Given the description of an element on the screen output the (x, y) to click on. 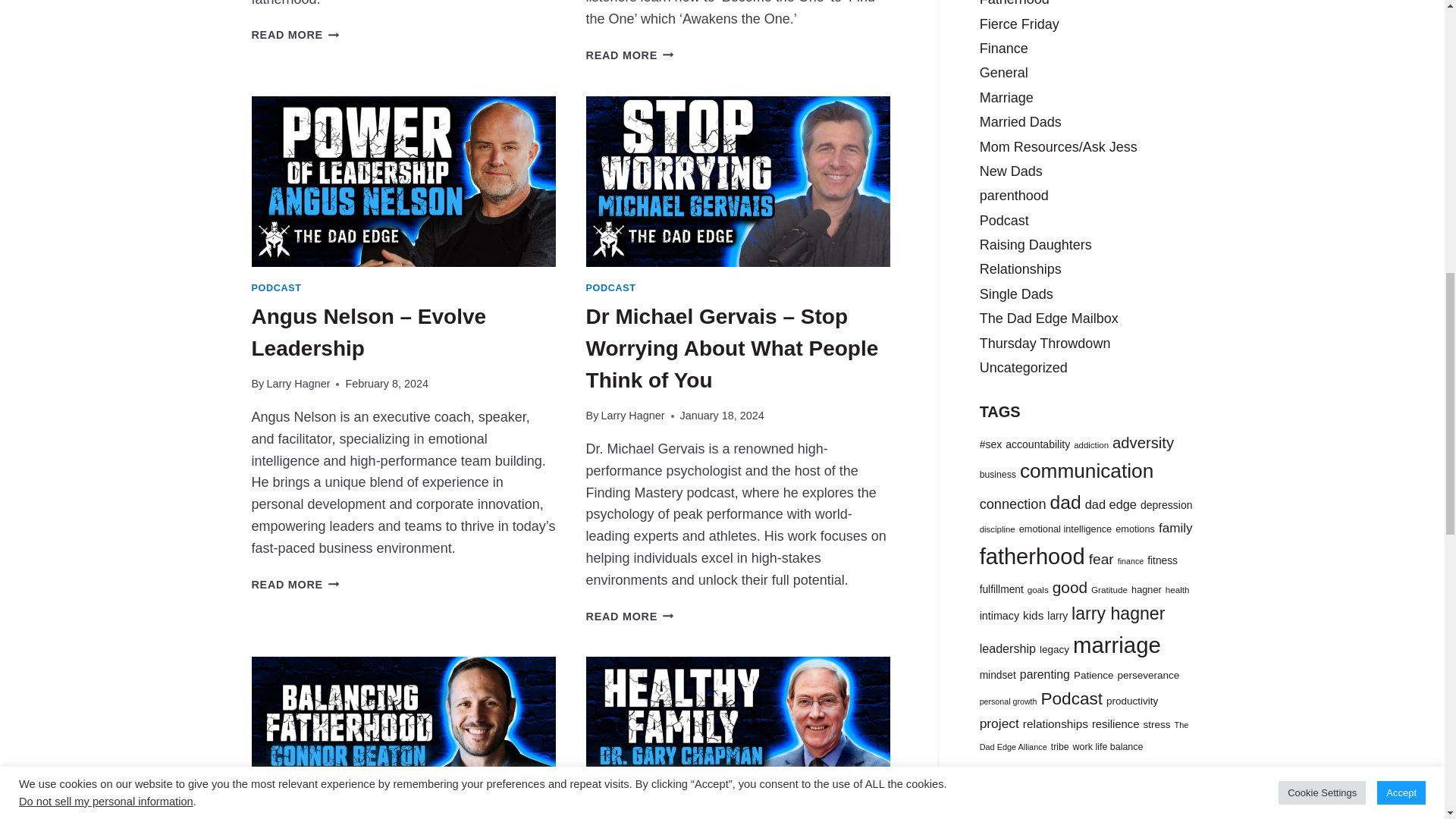
PODCAST (276, 287)
Larry Hagner (633, 415)
Larry Hagner (298, 383)
PODCAST (611, 287)
